Given the description of an element on the screen output the (x, y) to click on. 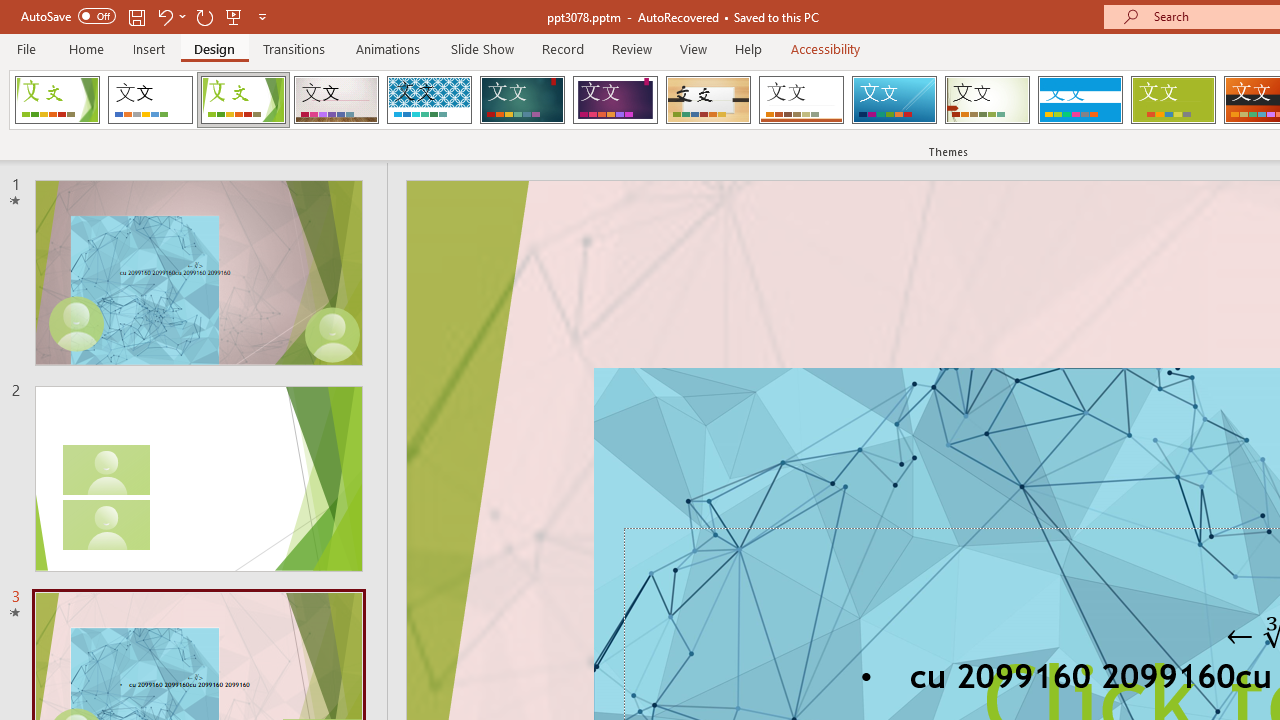
Organic (708, 100)
Retrospect (801, 100)
Slice (893, 100)
Office Theme (150, 100)
Basis (1172, 100)
